Given the description of an element on the screen output the (x, y) to click on. 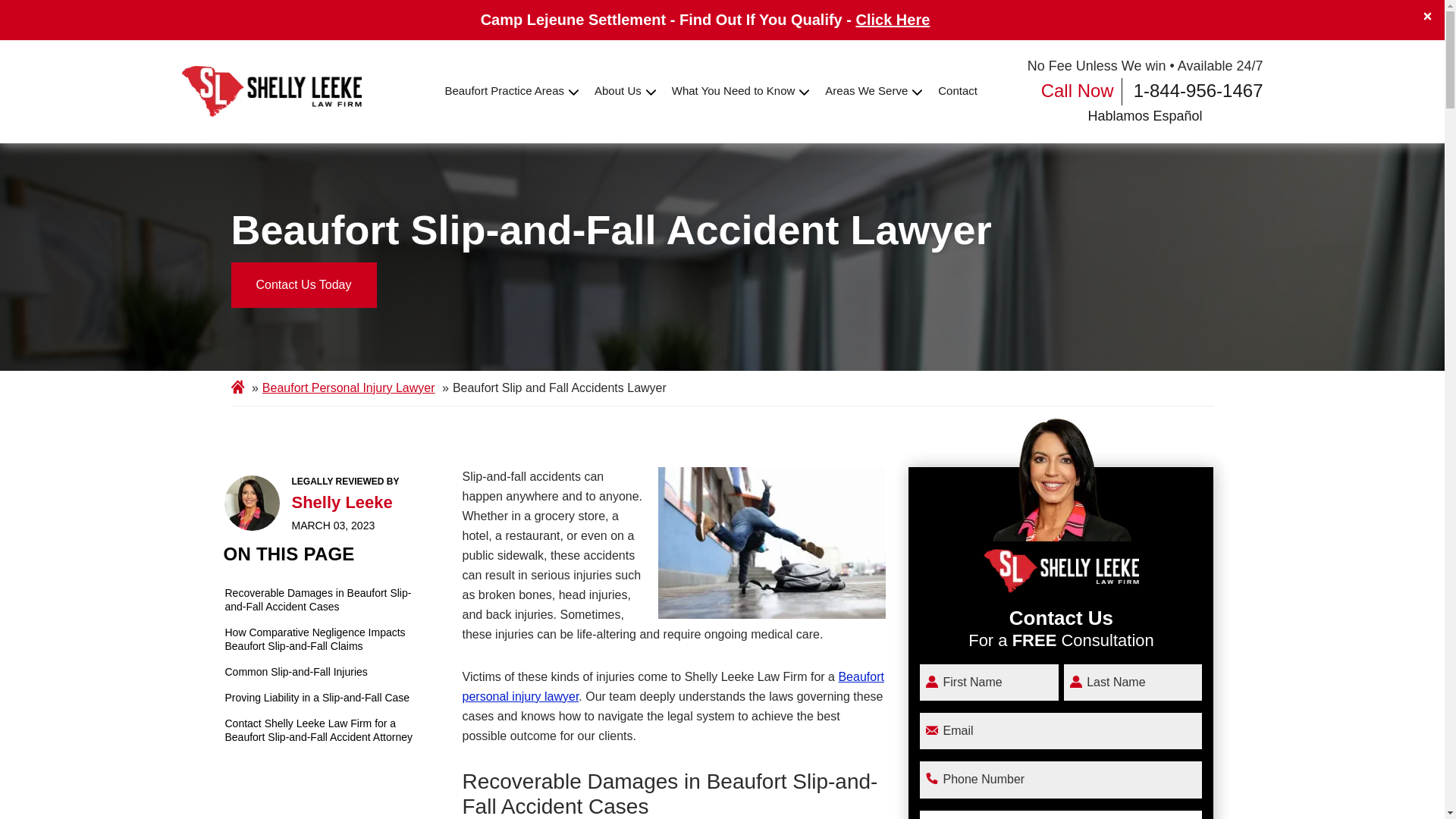
Shelly Leeke (251, 502)
Click Here (893, 19)
About Us (617, 90)
Common Slip-and-Fall Injuries (325, 671)
Beaufort Practice Areas (504, 90)
Areas We Serve (865, 90)
Shelly Leeke Law Firm, LLC (272, 91)
Recoverable Damages in Beaufort Slip-and-Fall Accident Cases (325, 599)
What You Need to Know (733, 90)
Proving Liability in a Slip-and-Fall Case (325, 697)
